Given the description of an element on the screen output the (x, y) to click on. 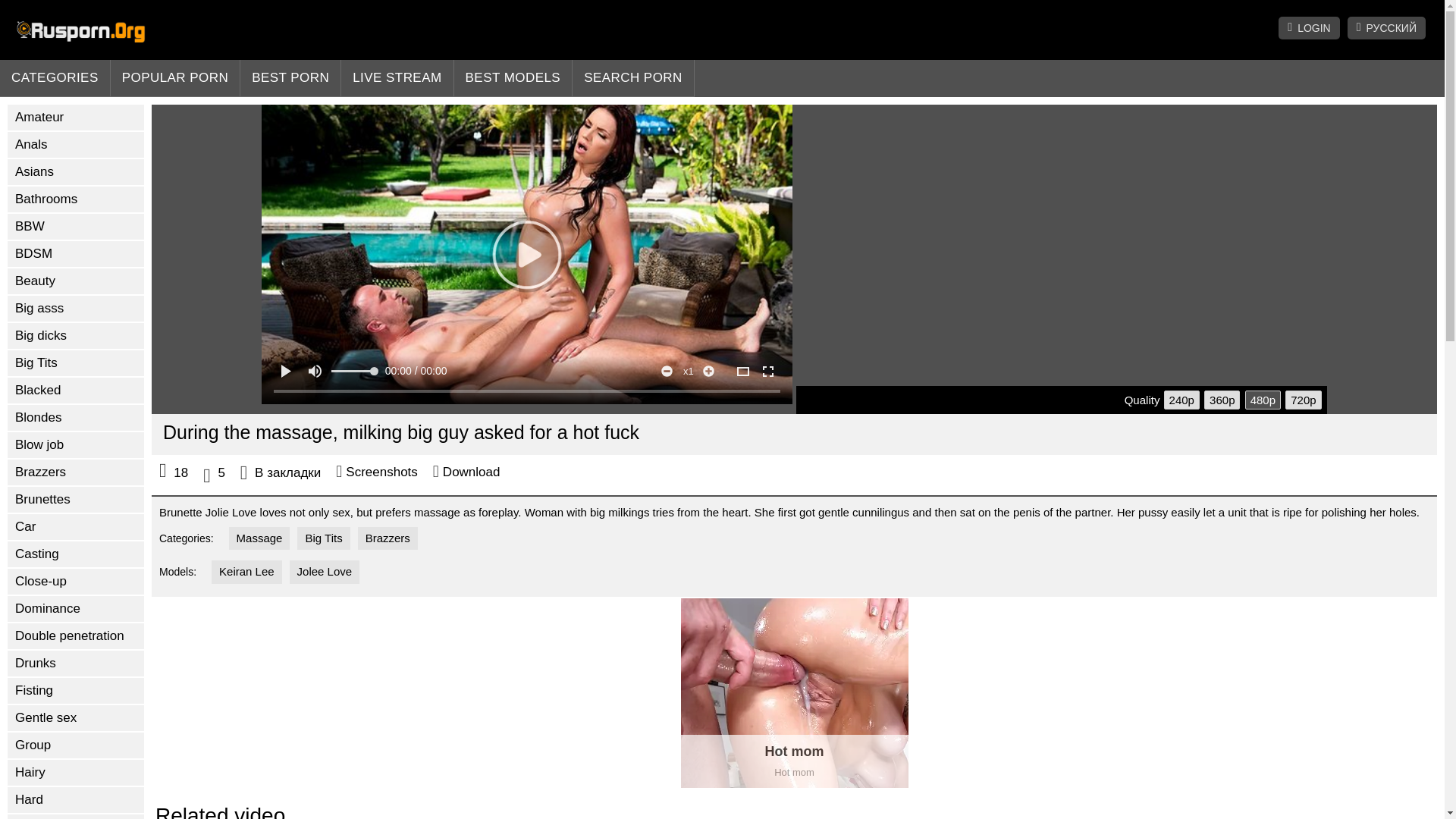
Blow job (75, 444)
Brazzers (75, 472)
BBW (75, 226)
Big asss (75, 308)
Anals (75, 144)
Fisting (75, 690)
Hard (75, 800)
Drunks (75, 663)
BEST PORN (290, 78)
Close-up (75, 581)
Big dicks (75, 335)
Amateur (75, 117)
In college (75, 816)
Bathrooms (75, 199)
Blacked (75, 390)
